Given the description of an element on the screen output the (x, y) to click on. 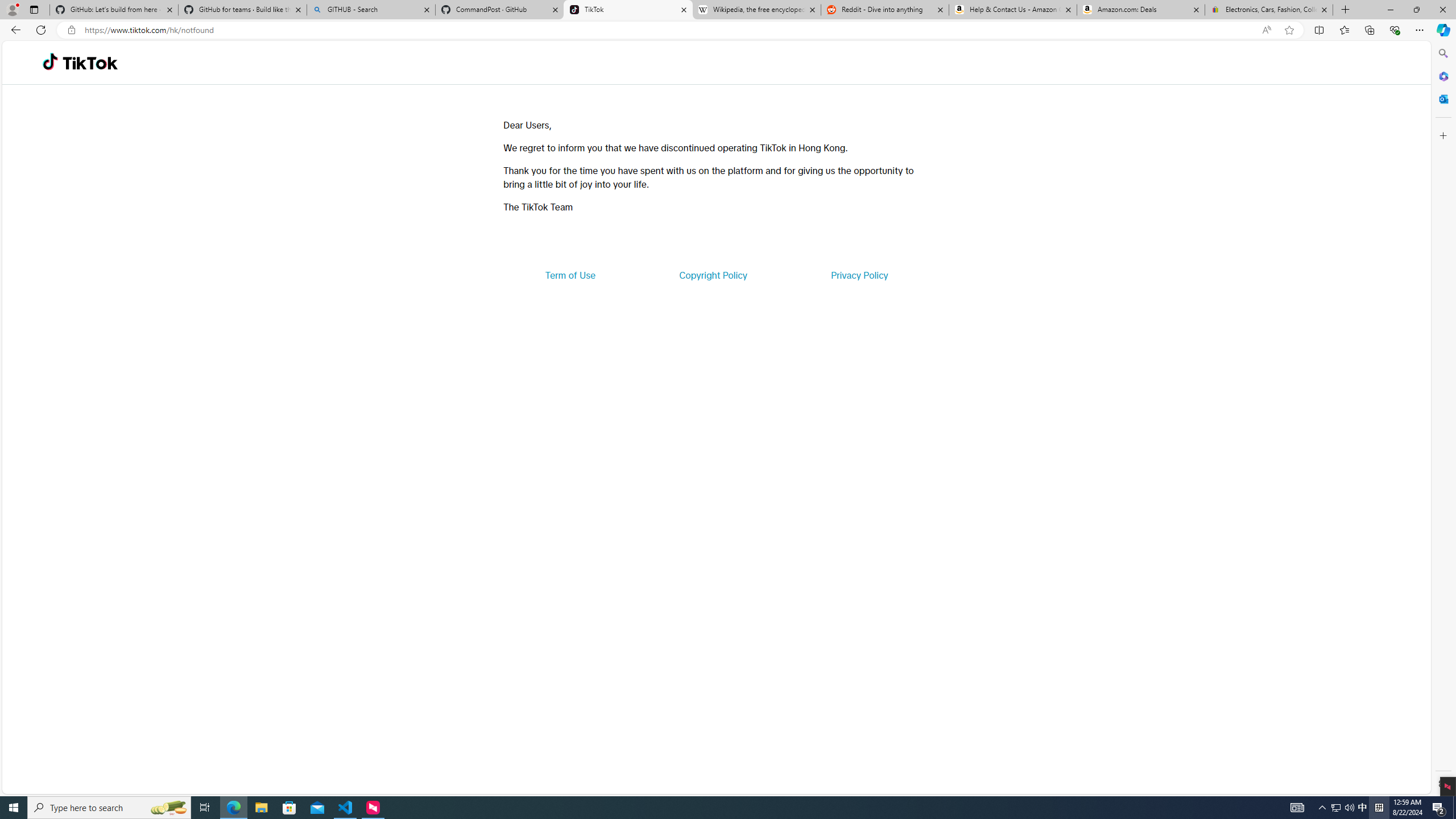
Copyright Policy (712, 274)
TikTok (89, 62)
Privacy Policy (858, 274)
Amazon.com: Deals (1140, 9)
